Given the description of an element on the screen output the (x, y) to click on. 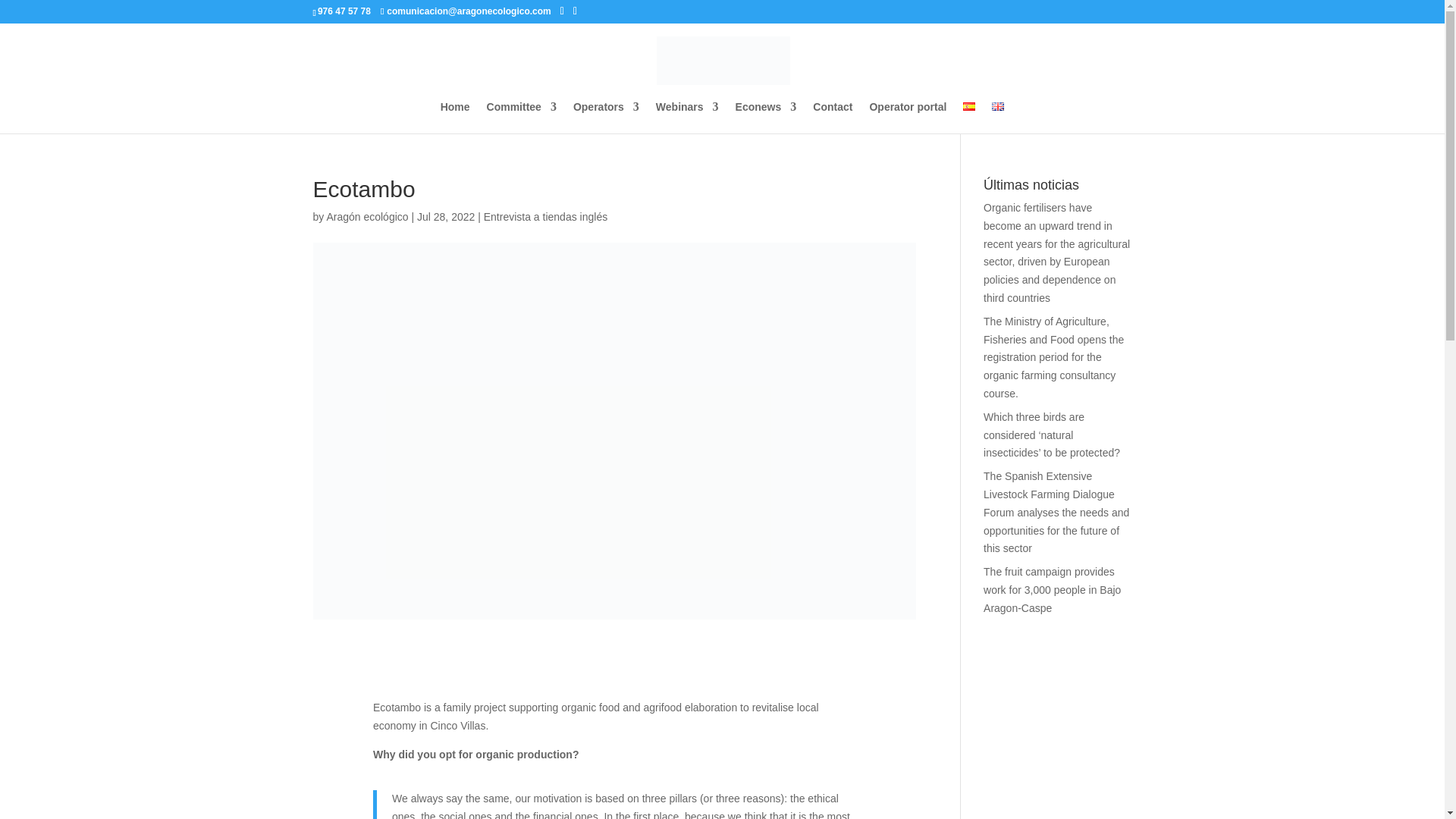
Committee (521, 117)
Webinars (687, 117)
Econews (765, 117)
Operator portal (907, 117)
Home (455, 117)
Contact (831, 117)
Operators (606, 117)
